Given the description of an element on the screen output the (x, y) to click on. 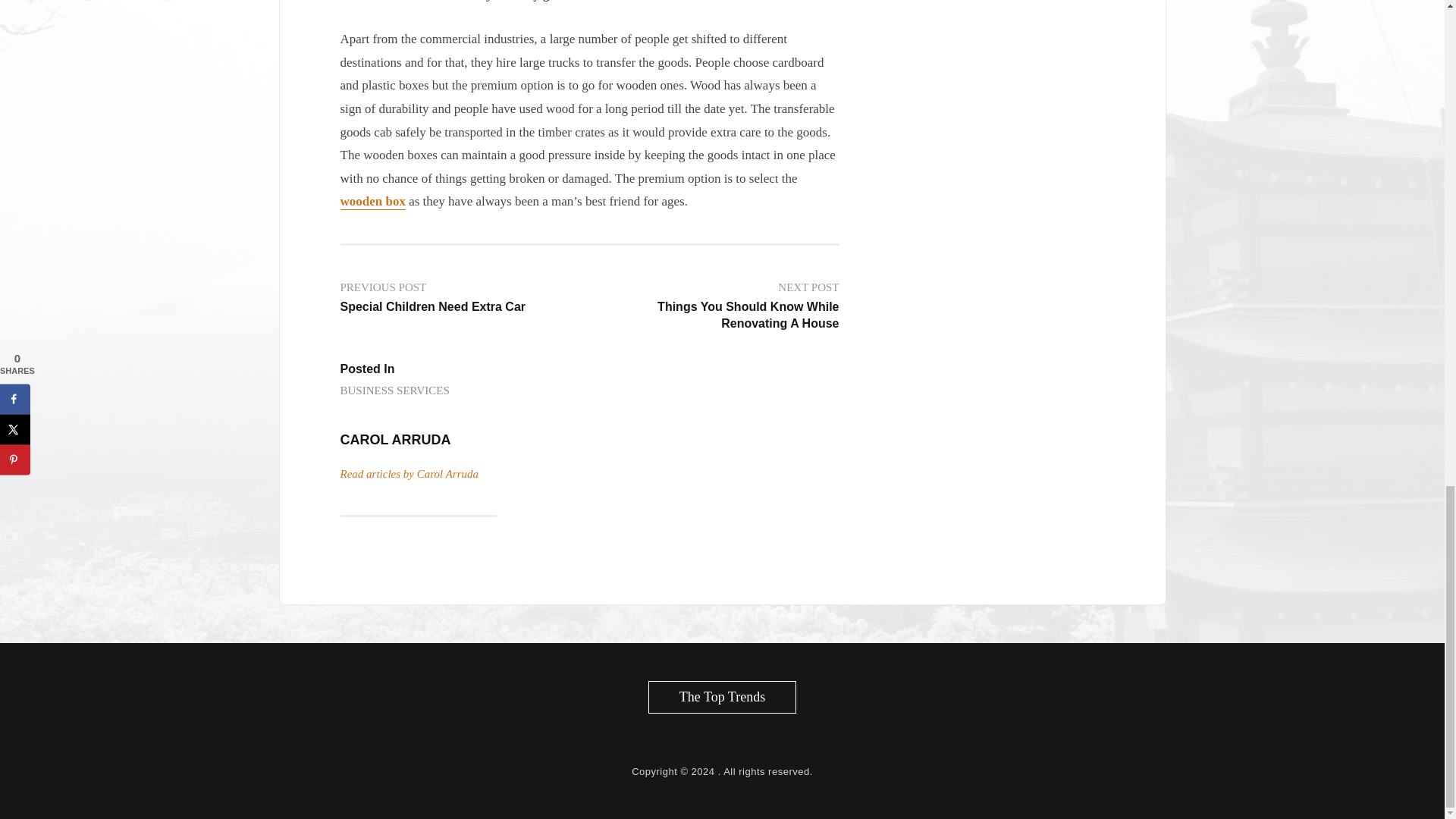
BUSINESS SERVICES (458, 298)
wooden box (393, 390)
wooden box (371, 201)
Read articles by Carol Arruda (371, 201)
